Given the description of an element on the screen output the (x, y) to click on. 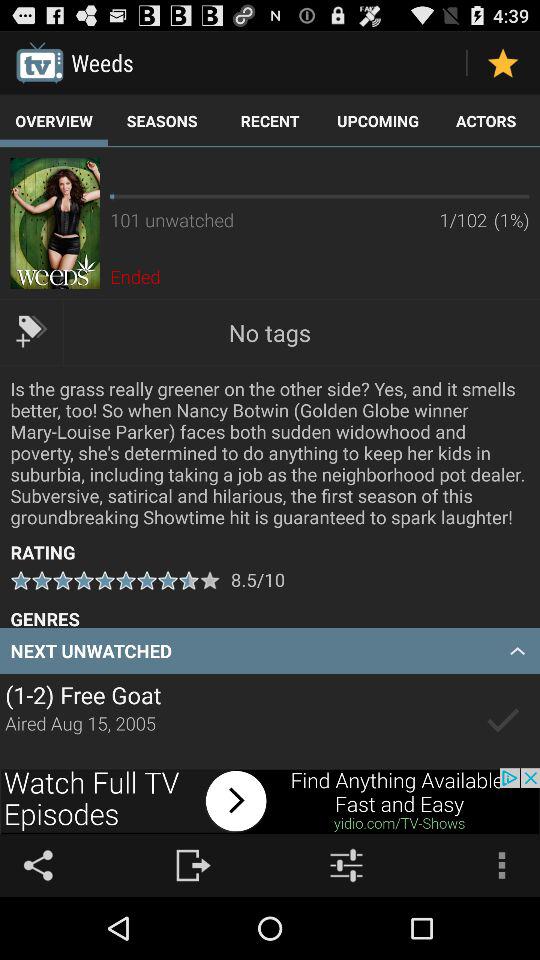
toggle favorite (502, 62)
